Given the description of an element on the screen output the (x, y) to click on. 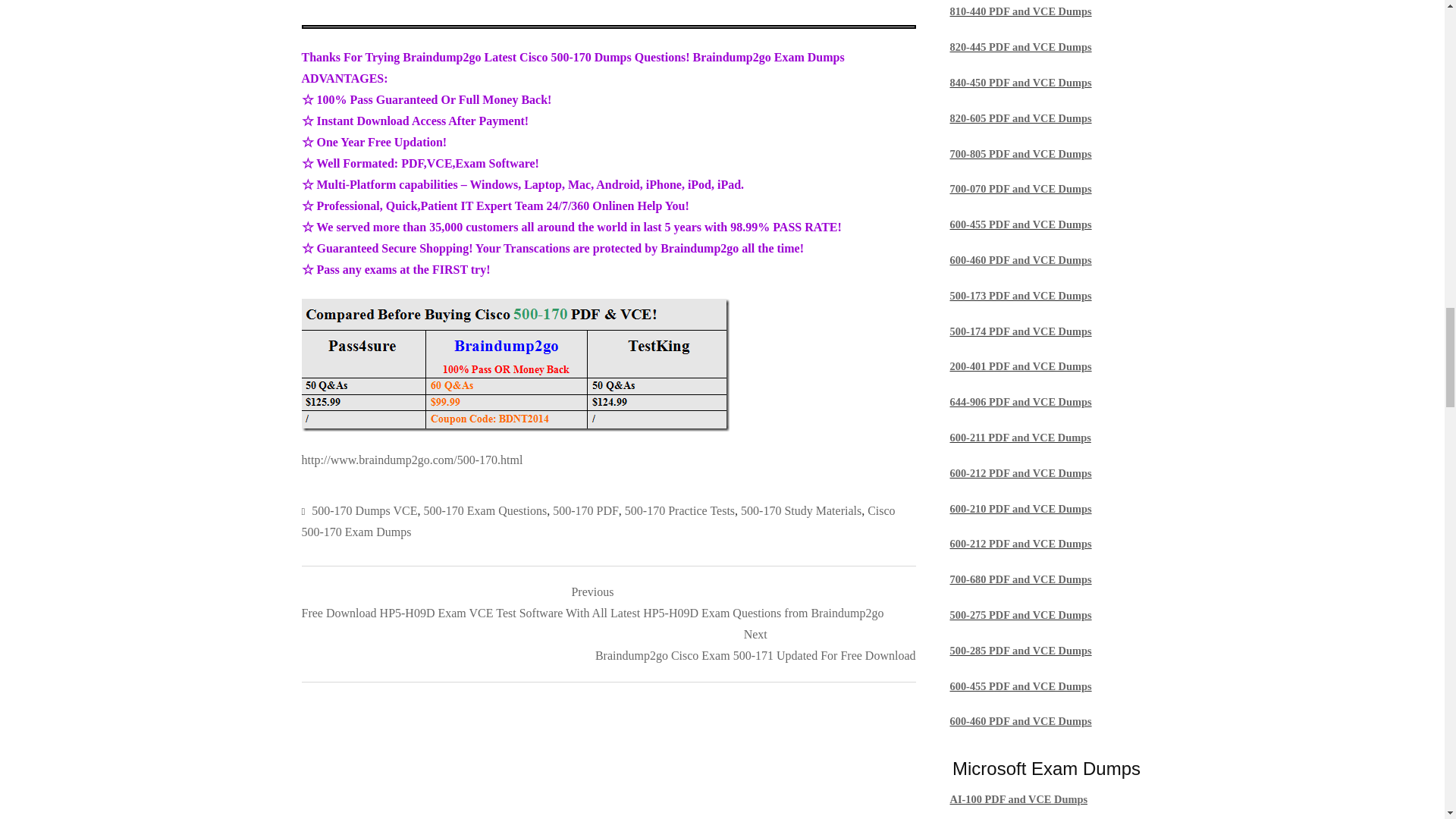
500-170 Exam Questions (485, 510)
500-170 Dumps VCE (363, 510)
500-170 Practice Tests (679, 510)
Cisco 500-170 Exam Dumps (598, 521)
500-170 Study Materials (801, 510)
500-170 PDF (585, 510)
